Given the description of an element on the screen output the (x, y) to click on. 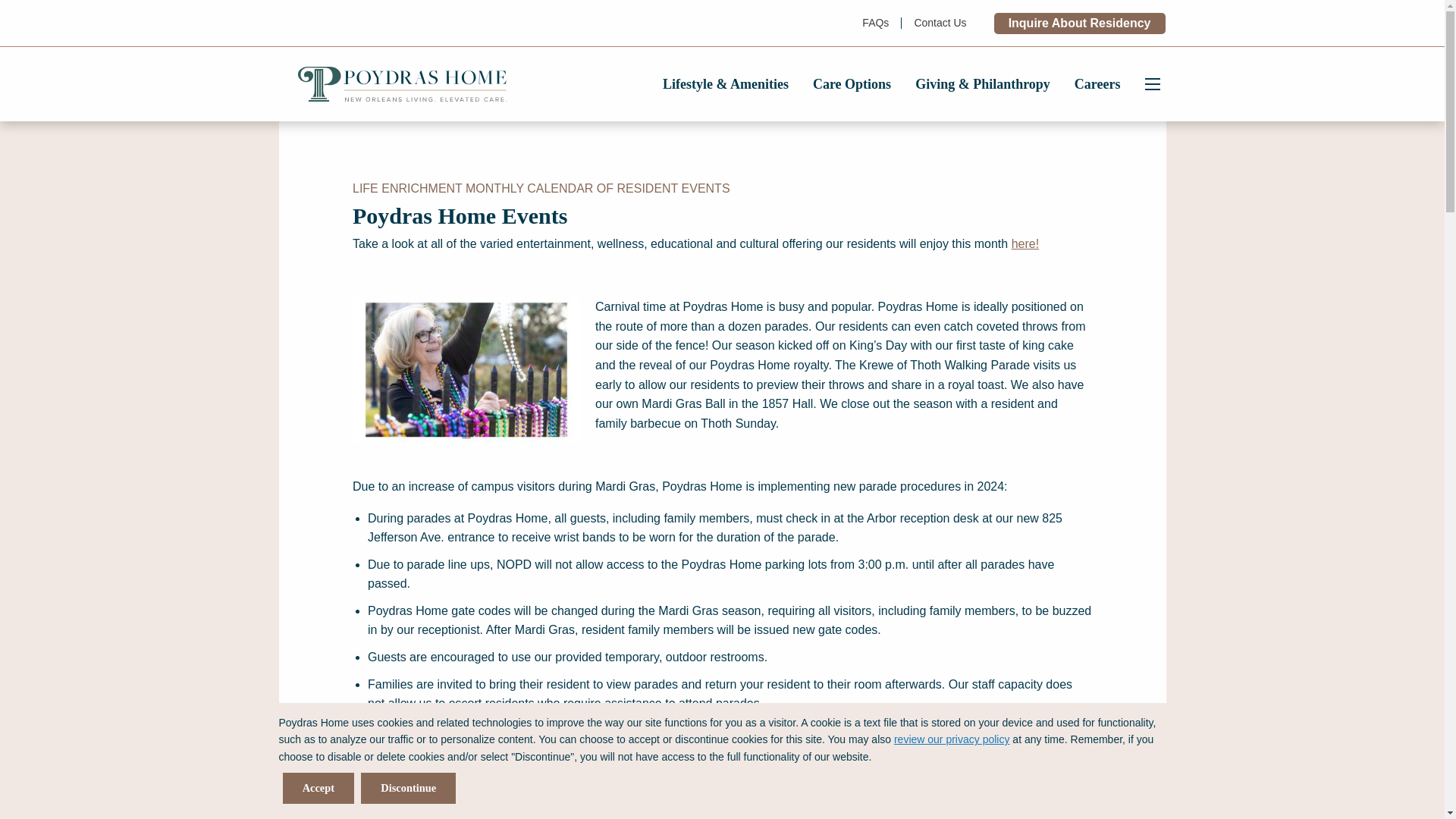
Poydras Home (401, 84)
